Given the description of an element on the screen output the (x, y) to click on. 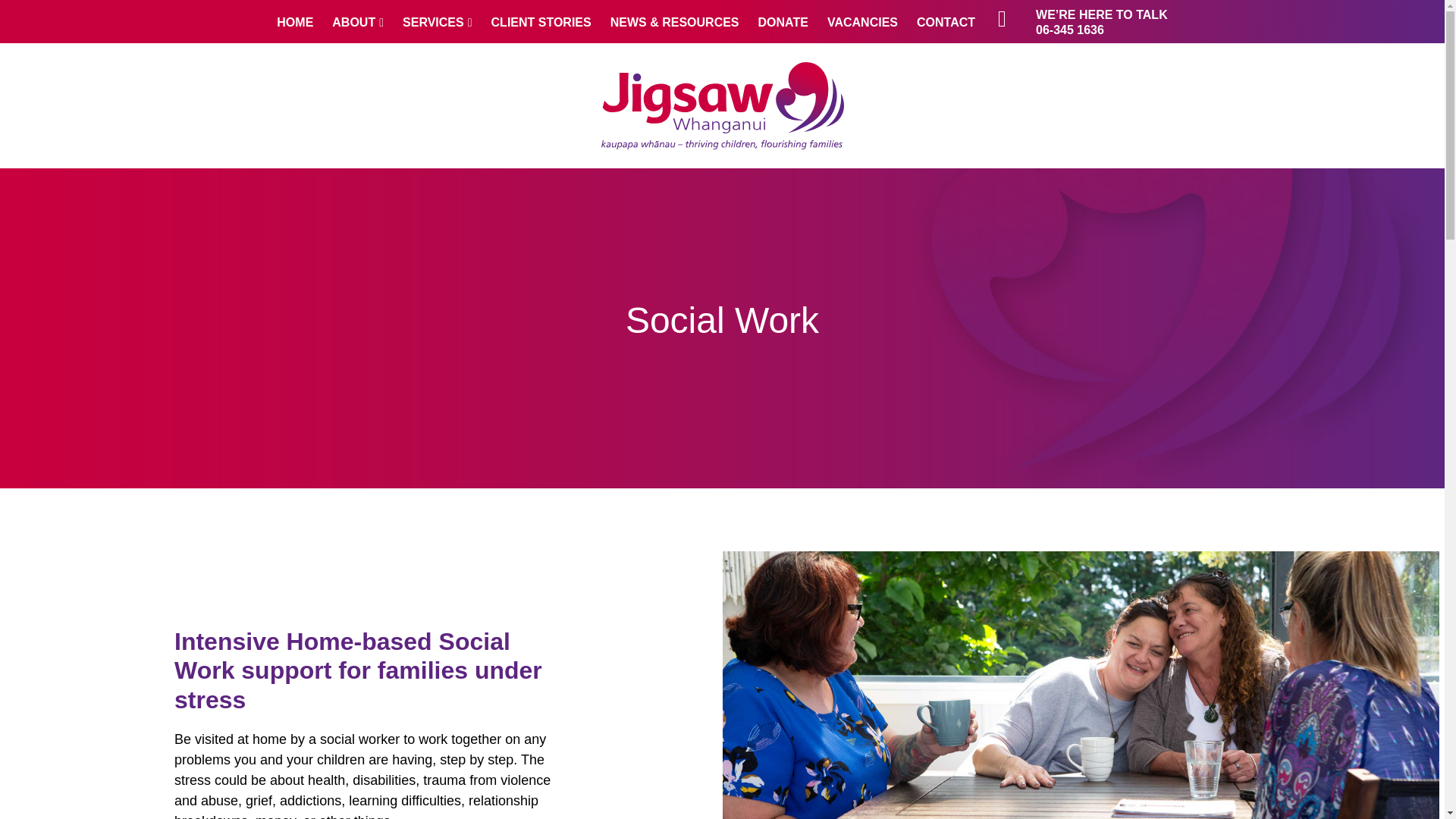
ABOUT (357, 21)
HOME (294, 21)
VACANCIES (862, 21)
SERVICES (437, 21)
CLIENT STORIES (541, 21)
CONTACT (946, 21)
DONATE (783, 21)
